Given the description of an element on the screen output the (x, y) to click on. 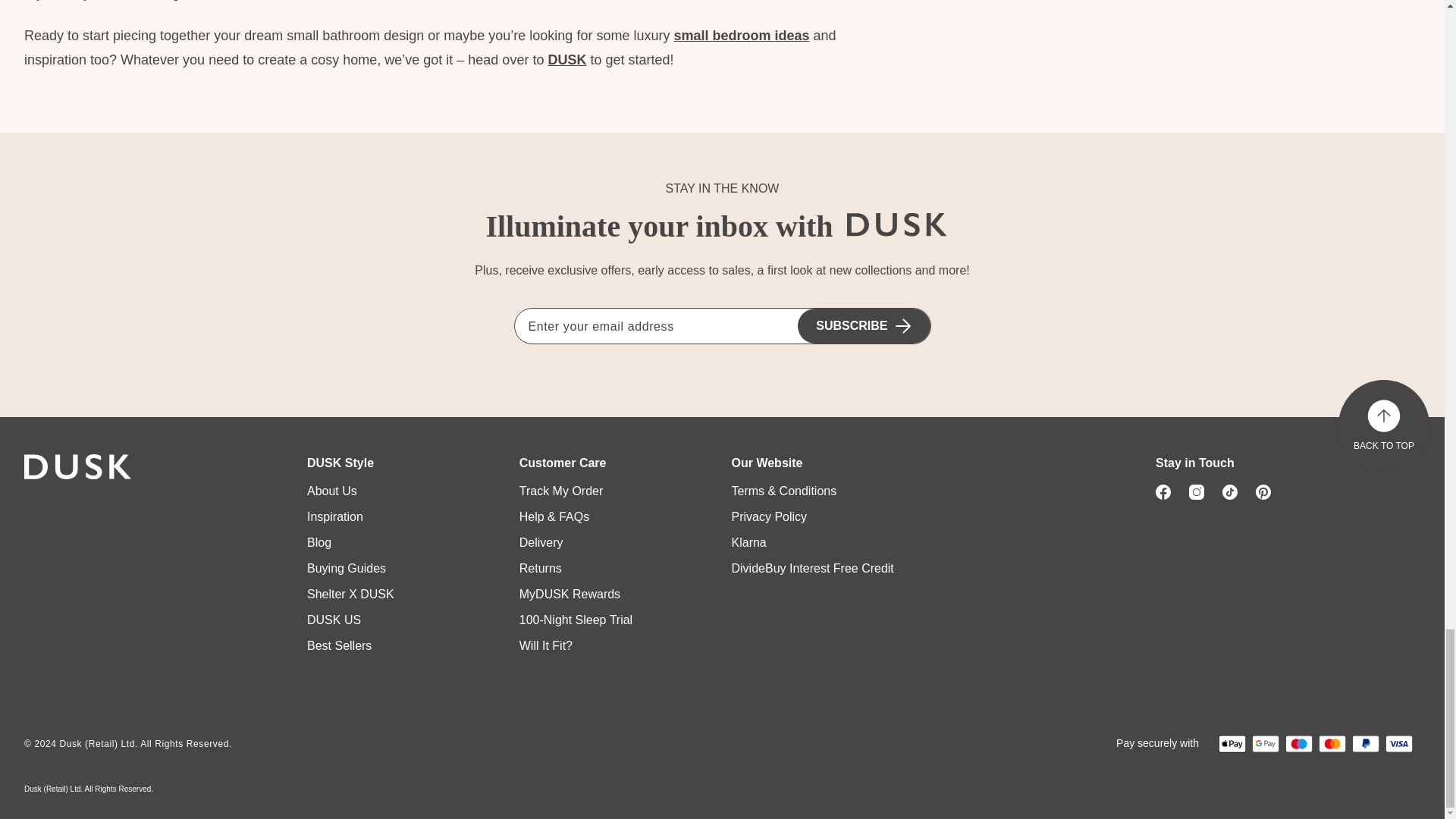
DUSK (900, 224)
DUSK (81, 466)
